Given the description of an element on the screen output the (x, y) to click on. 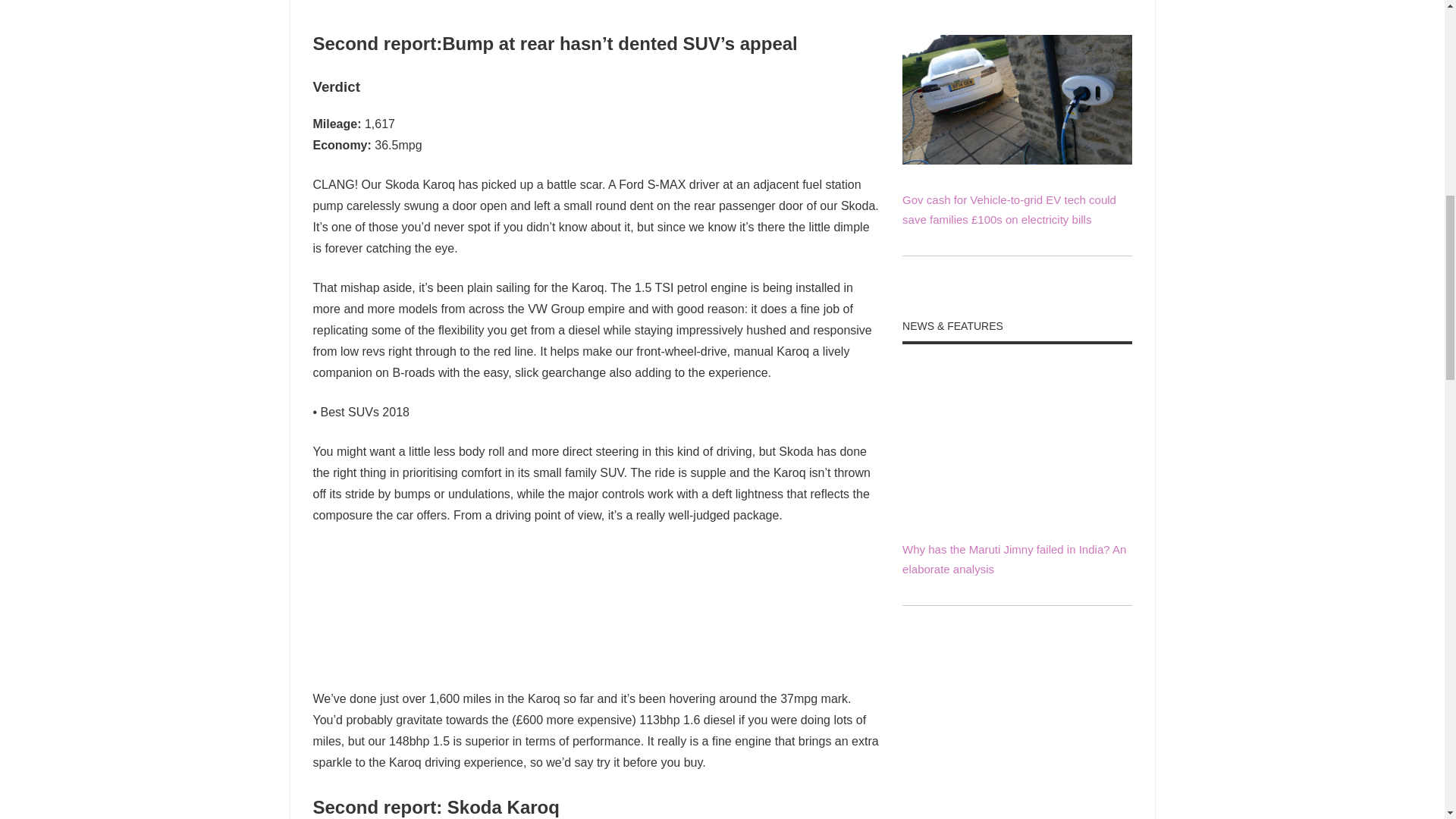
Kia Seltos GT Line Diesel vs Petrol? Scared of DPF and DCT! (1016, 791)
